Given the description of an element on the screen output the (x, y) to click on. 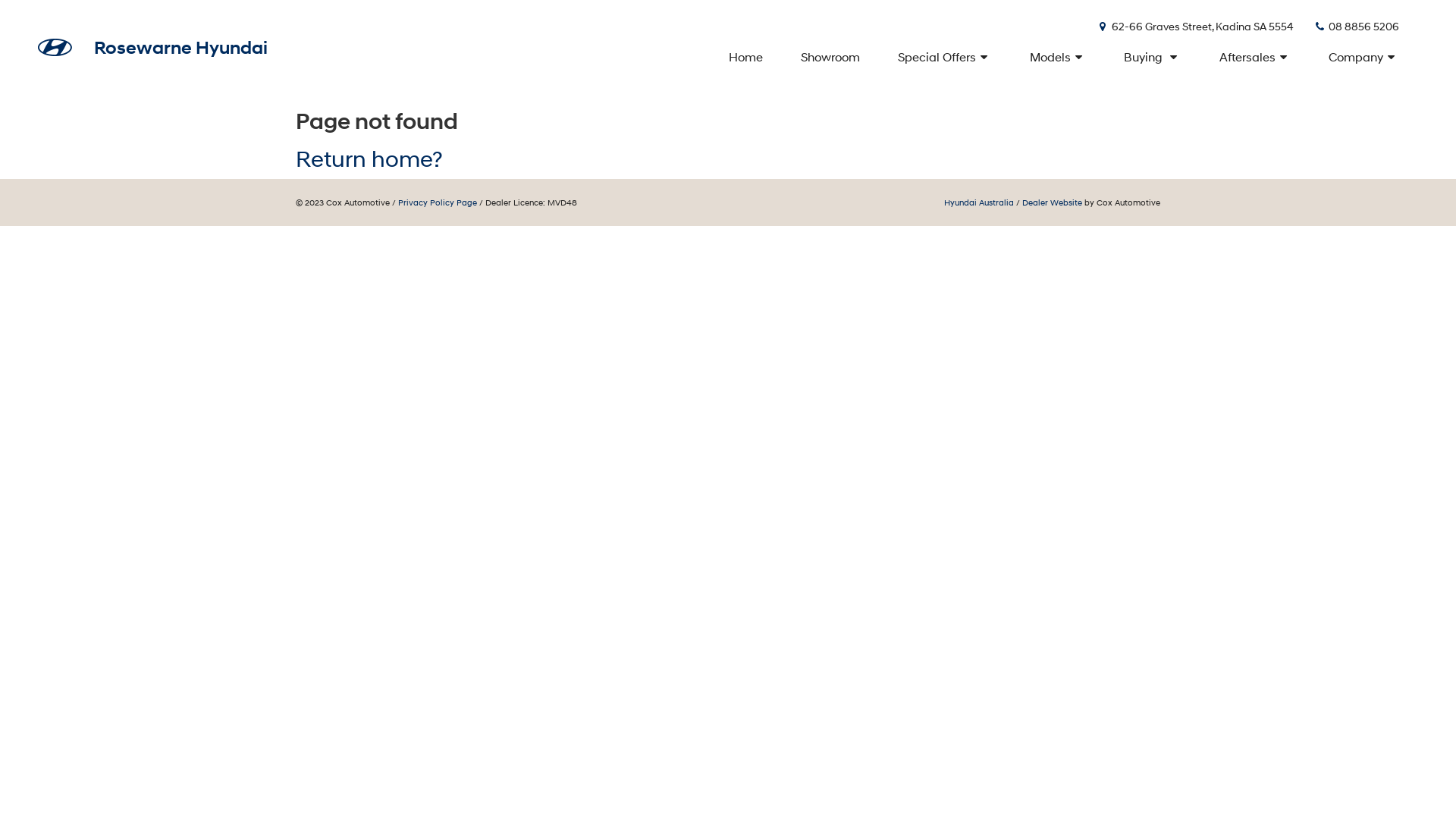
Dealer Website Element type: text (1052, 202)
Return home? Element type: text (368, 159)
Special Offers Element type: text (944, 56)
Models Element type: text (1057, 56)
Home Element type: text (747, 56)
Company Element type: text (1363, 56)
Aftersales Element type: text (1255, 56)
Hyundai Australia Element type: text (978, 202)
Buying Element type: text (1152, 56)
62-66 Graves Street, Kadina SA 5554 Element type: text (1194, 25)
Privacy Policy Page Element type: text (437, 202)
Showroom Element type: text (829, 56)
08 8856 5206 Element type: text (1355, 25)
